Given the description of an element on the screen output the (x, y) to click on. 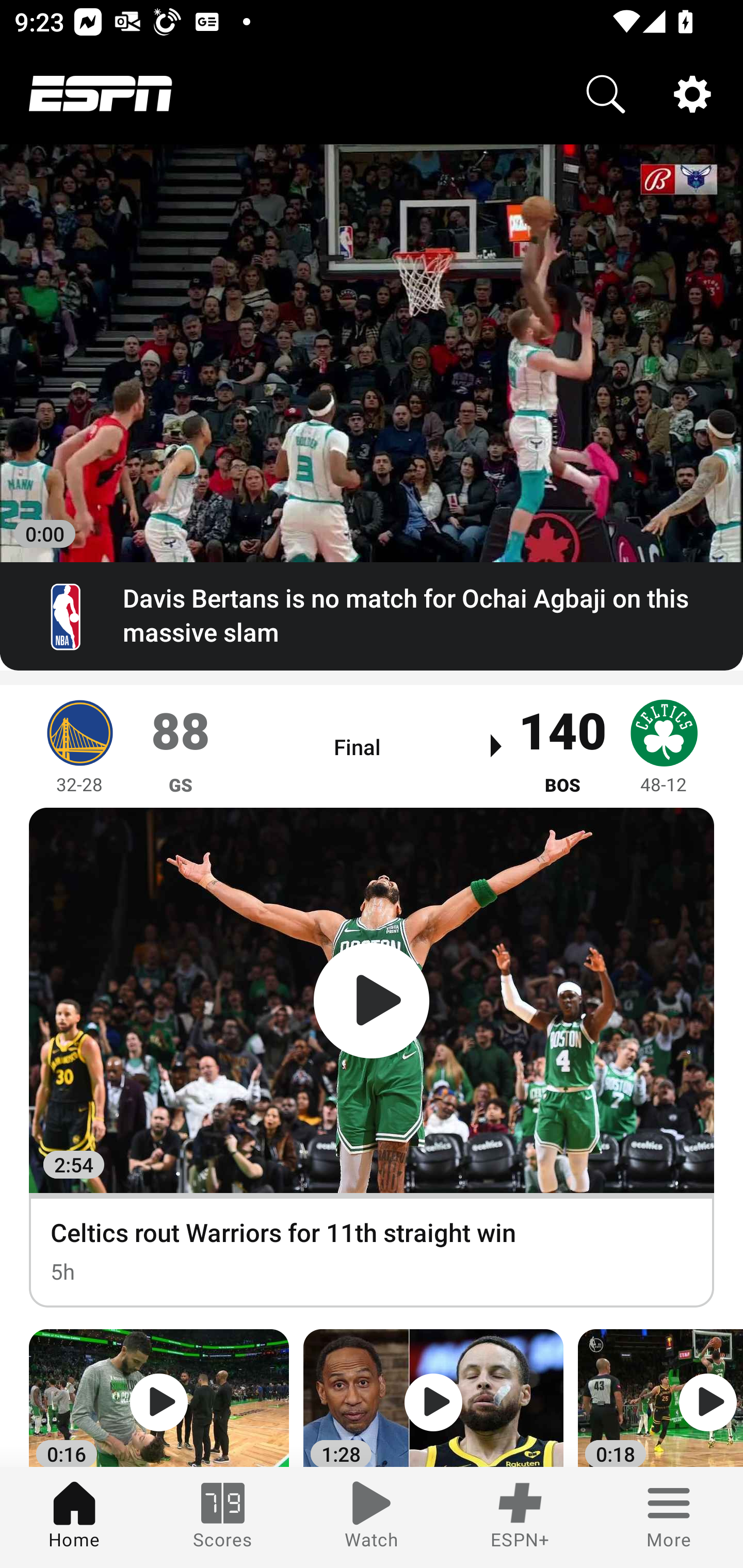
Search (605, 93)
Settings (692, 93)
 0:16 (158, 1398)
 1:28 (433, 1398)
 0:18 (660, 1398)
Scores (222, 1517)
Watch (371, 1517)
ESPN+ (519, 1517)
More (668, 1517)
